Given the description of an element on the screen output the (x, y) to click on. 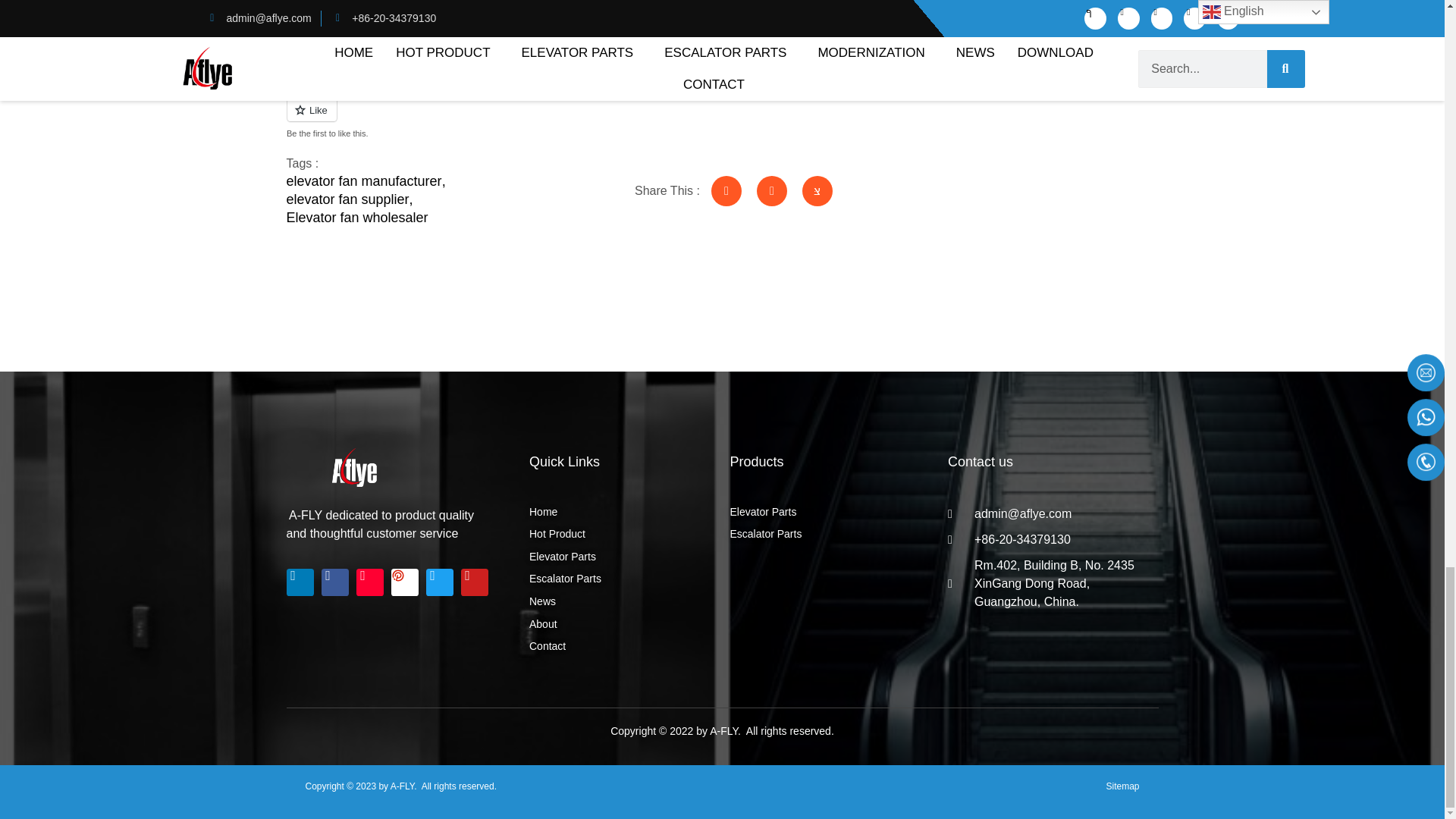
Like or Reblog (563, 118)
Click to share on Facebook (324, 35)
Click to share on X (389, 35)
